Given the description of an element on the screen output the (x, y) to click on. 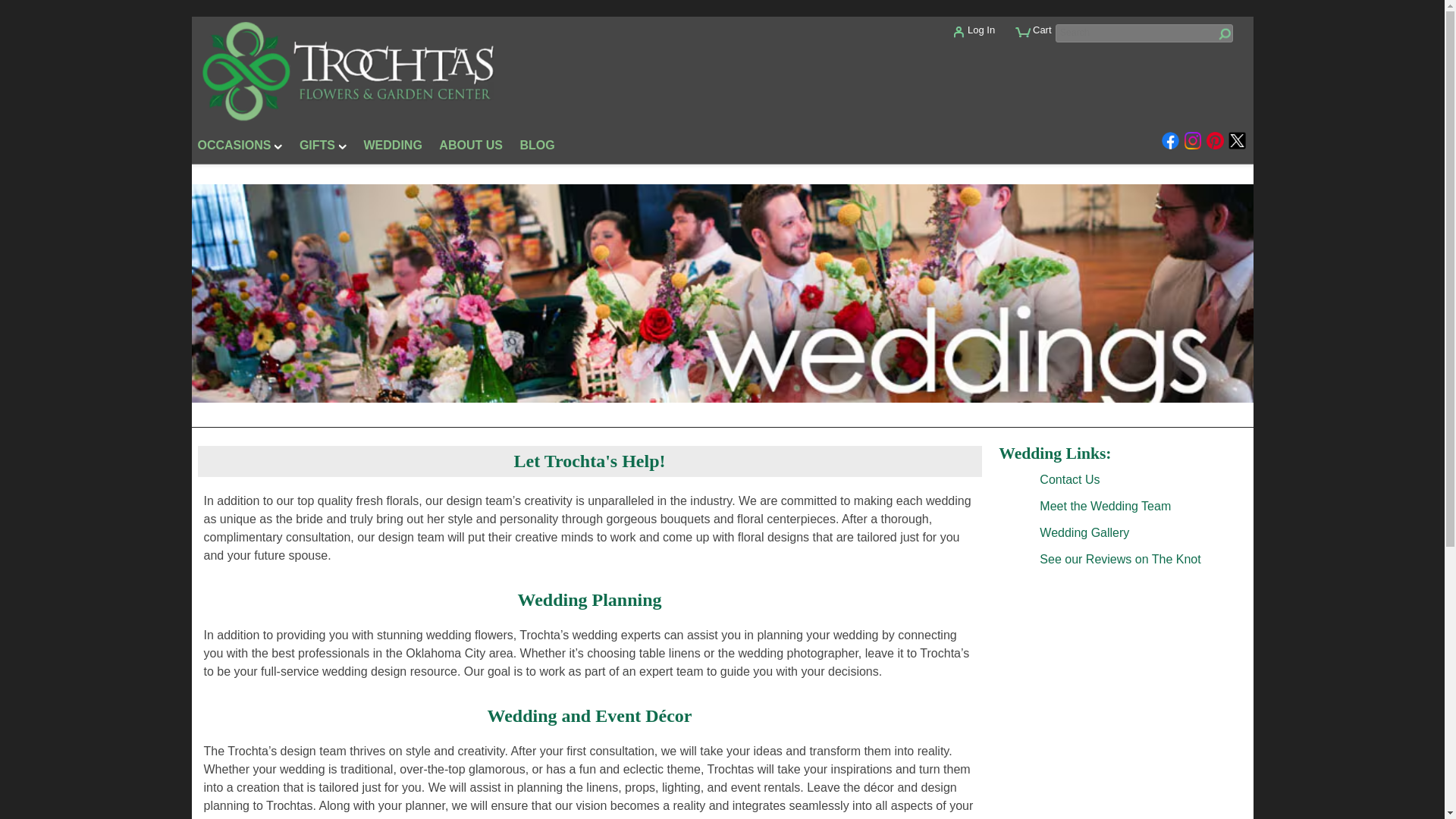
ABOUT US (470, 147)
Go (1222, 35)
Cart (1040, 37)
GIFTS (323, 147)
Search (1144, 33)
Log In (985, 35)
log In (985, 35)
OCCASIONS (239, 147)
BLOG (536, 147)
WEDDING (393, 147)
